Given the description of an element on the screen output the (x, y) to click on. 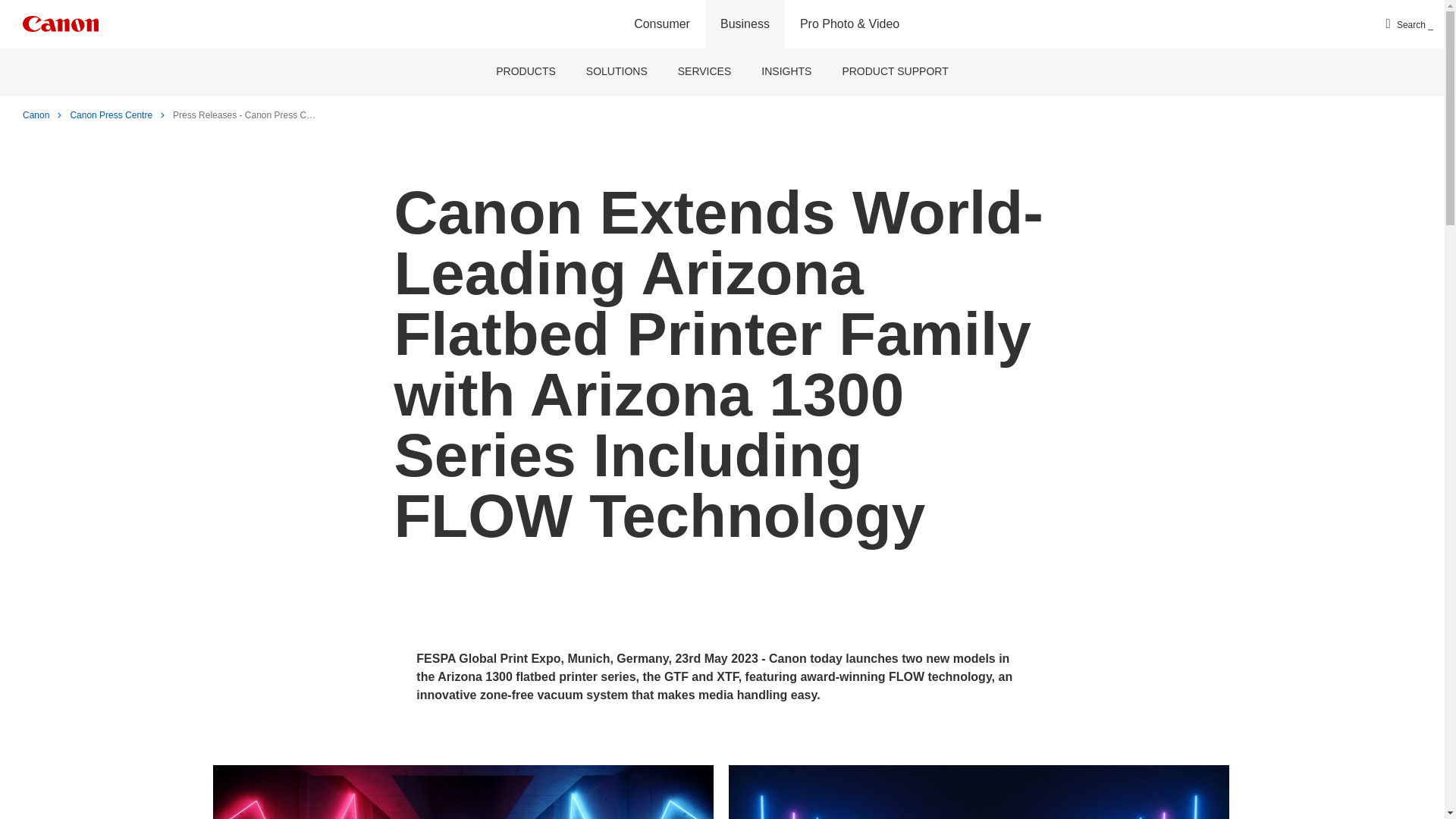
PRODUCTS (525, 72)
Business (744, 24)
Canon Logo, back to home page (61, 23)
Consumer (661, 24)
